Given the description of an element on the screen output the (x, y) to click on. 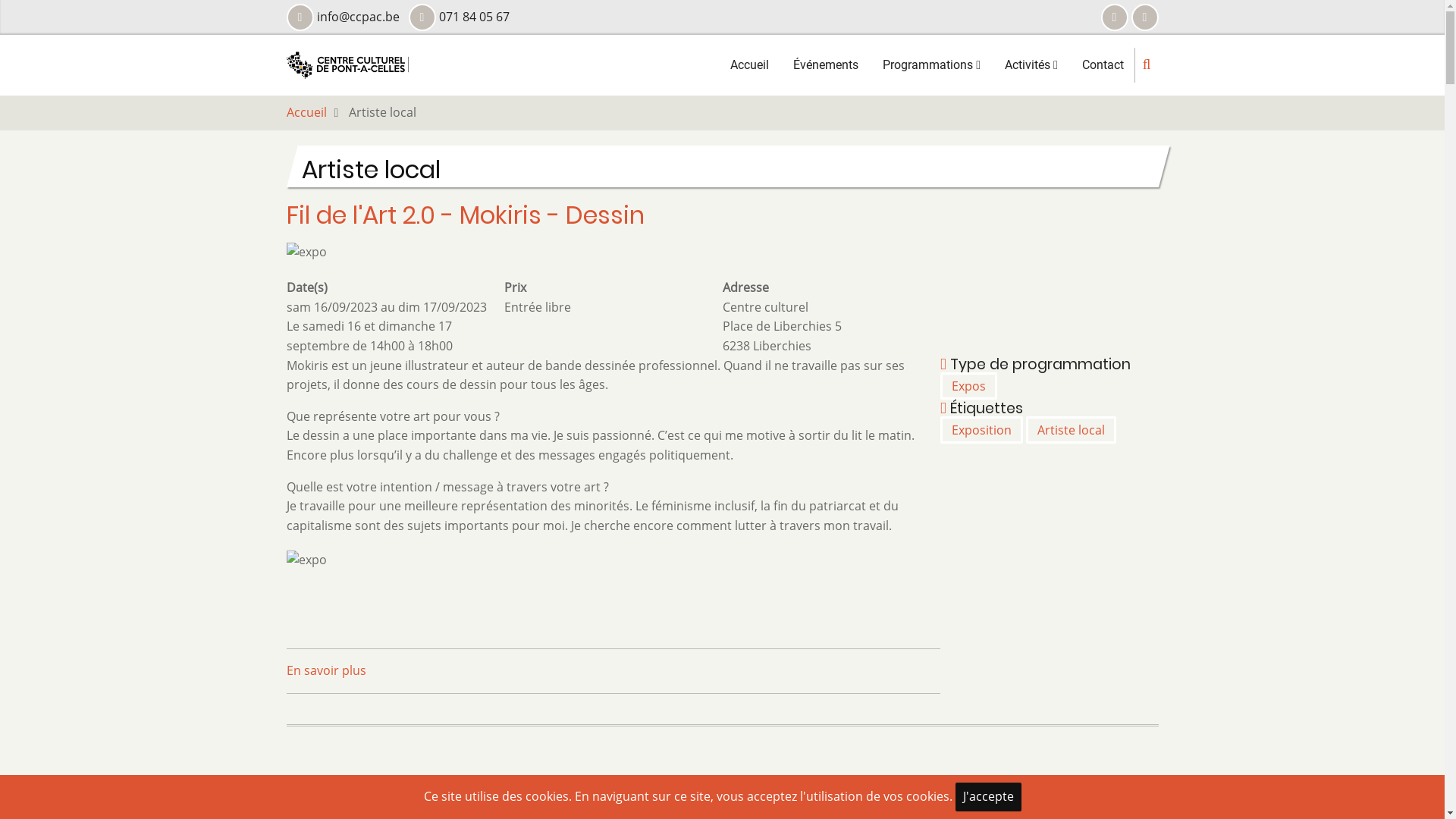
Notre mission Element type: text (326, 537)
Quartet 508 Element type: text (538, 563)
Fil de l'Art 2.0 - Mokiris - Dessin Element type: text (465, 214)
Accueil Element type: text (749, 65)
Marie-France Patte - Sculpture Element type: text (468, 788)
Contact Element type: text (1102, 65)
Accueil Element type: text (306, 111)
Artiste local Element type: text (1071, 429)
 info@ccpac.be Element type: text (761, 589)
Art floral Element type: text (529, 537)
Exposition Element type: text (981, 429)
Accueil Element type: hover (347, 63)
Notre histoire Element type: text (326, 590)
Mixity SRL Element type: text (683, 747)
Qui est Germaine ? Element type: text (558, 590)
Expos Element type: text (968, 385)
Aller au contenu principal Element type: text (0, 0)
Programmations Element type: text (931, 65)
J'accepte Element type: text (988, 796)
En savoir plus
sur Fil de l'Art 2.0 - Mokiris - Dessin Element type: text (326, 670)
